Given the description of an element on the screen output the (x, y) to click on. 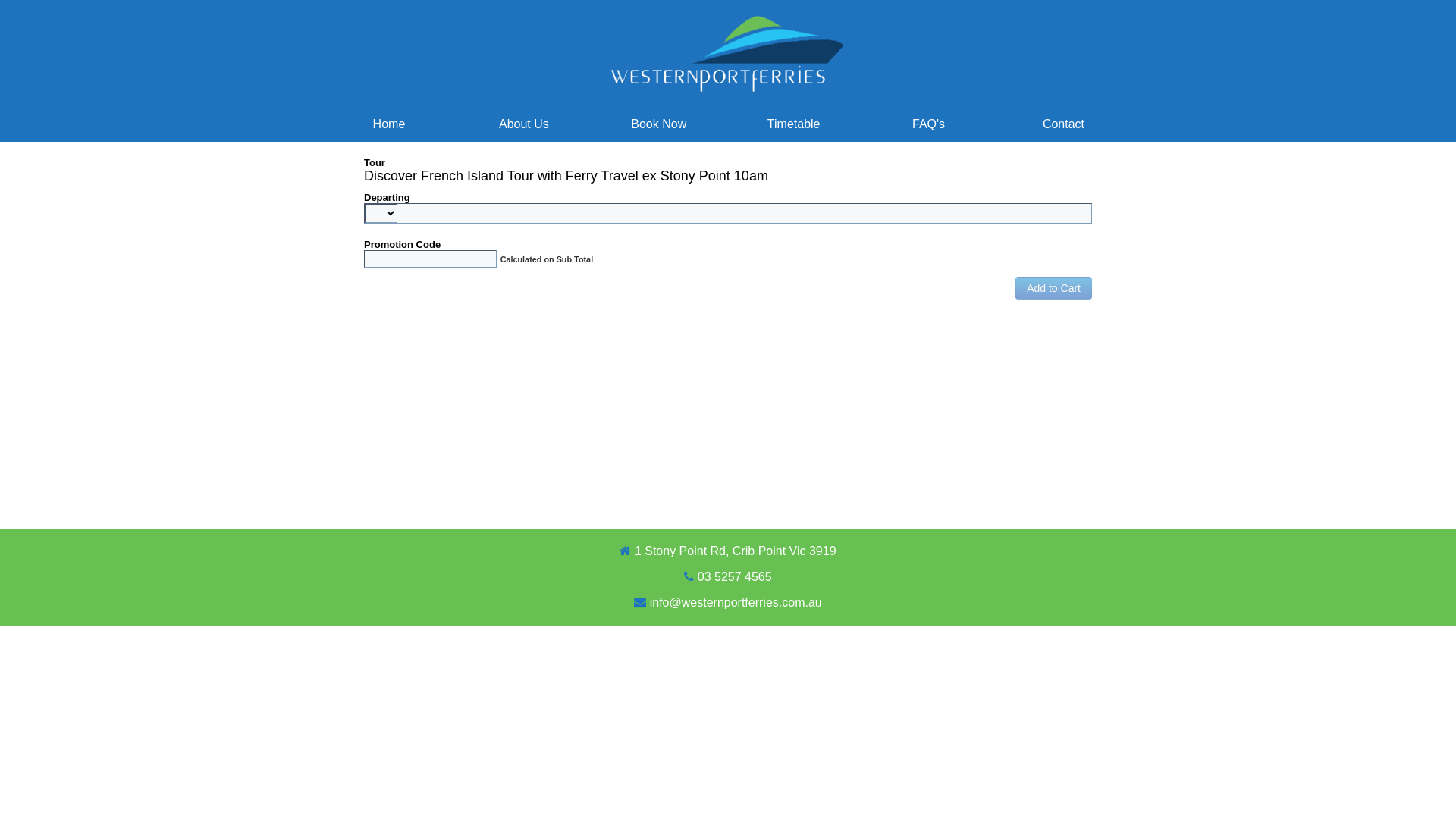
Add to Cart Element type: text (1053, 287)
Timetable Element type: text (793, 124)
Book Now Element type: text (658, 124)
About Us Element type: text (523, 124)
Contact Element type: text (1063, 124)
Home Element type: text (388, 124)
FAQ's Element type: text (928, 124)
